Given the description of an element on the screen output the (x, y) to click on. 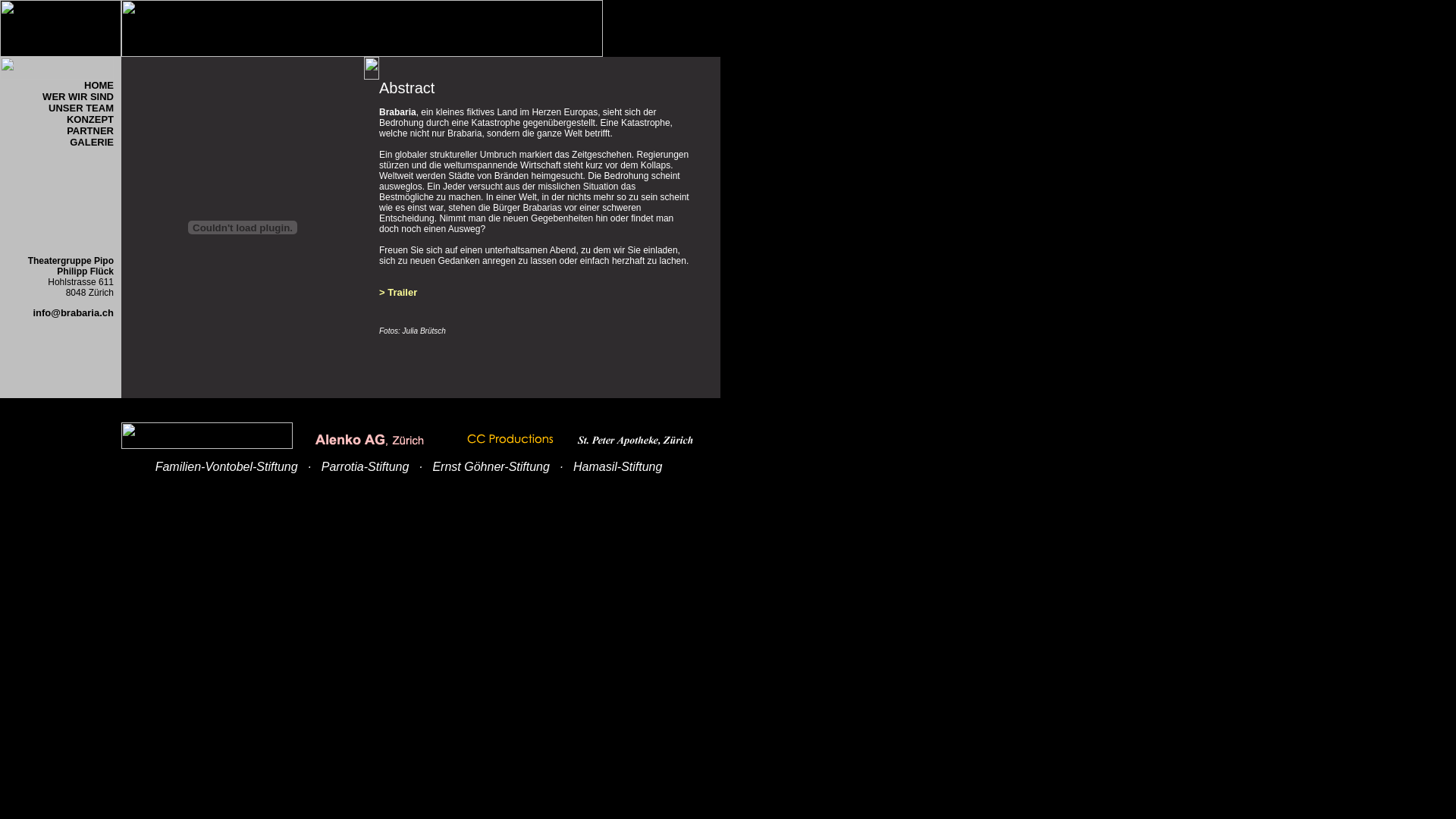
UNSER TEAM Element type: text (80, 113)
PARTNER Element type: text (89, 130)
HOME Element type: text (98, 85)
KONZEPT Element type: text (89, 119)
WER WIR SIND Element type: text (77, 96)
info@brabaria.ch Element type: text (72, 312)
> Trailer Element type: text (398, 297)
GALERIE Element type: text (91, 141)
